Given the description of an element on the screen output the (x, y) to click on. 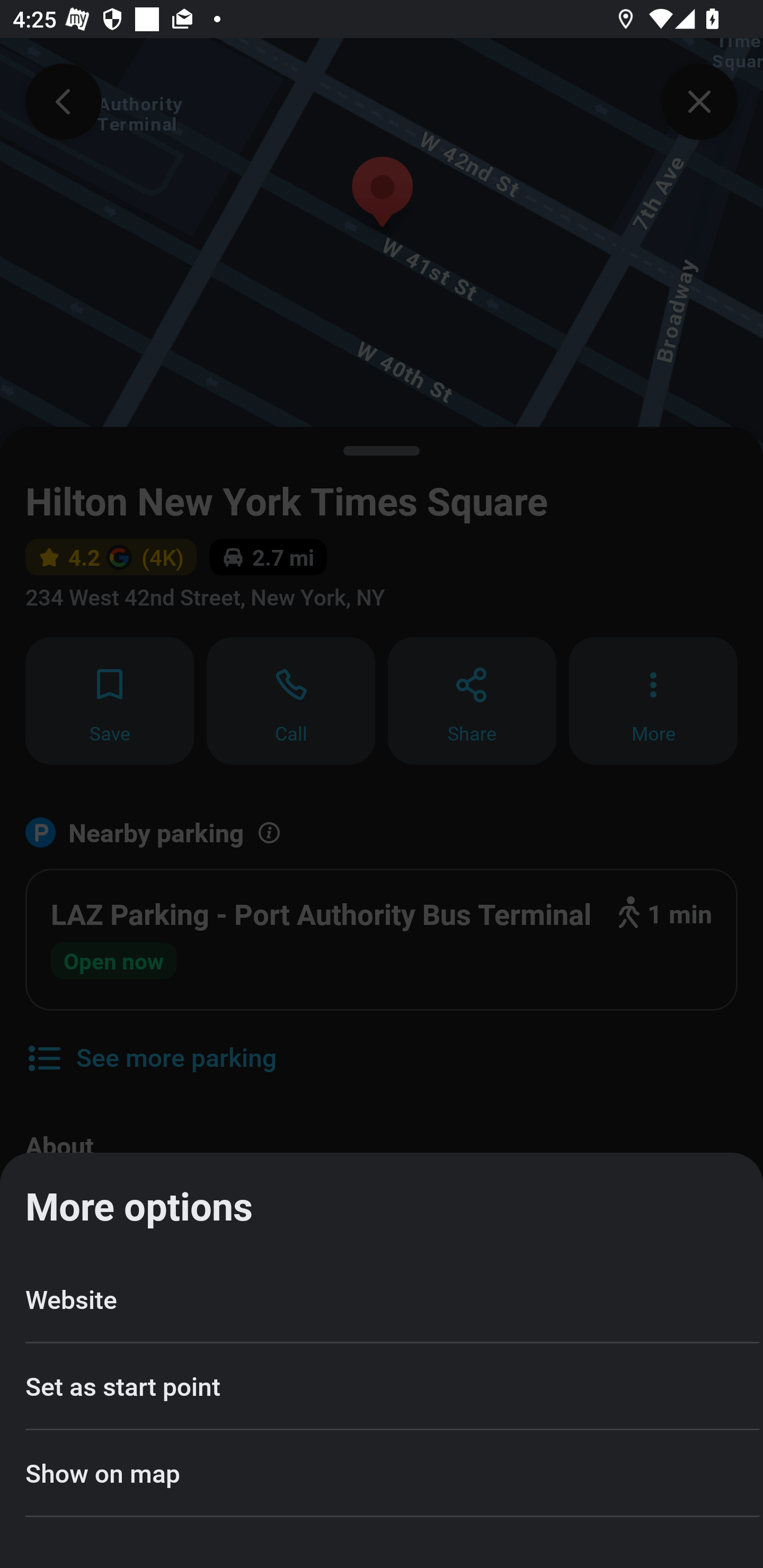
Website ACTION_CELL_TEXT (381, 1299)
Set as start point ACTION_CELL_TEXT (381, 1386)
Show on map ACTION_CELL_TEXT (381, 1473)
